Given the description of an element on the screen output the (x, y) to click on. 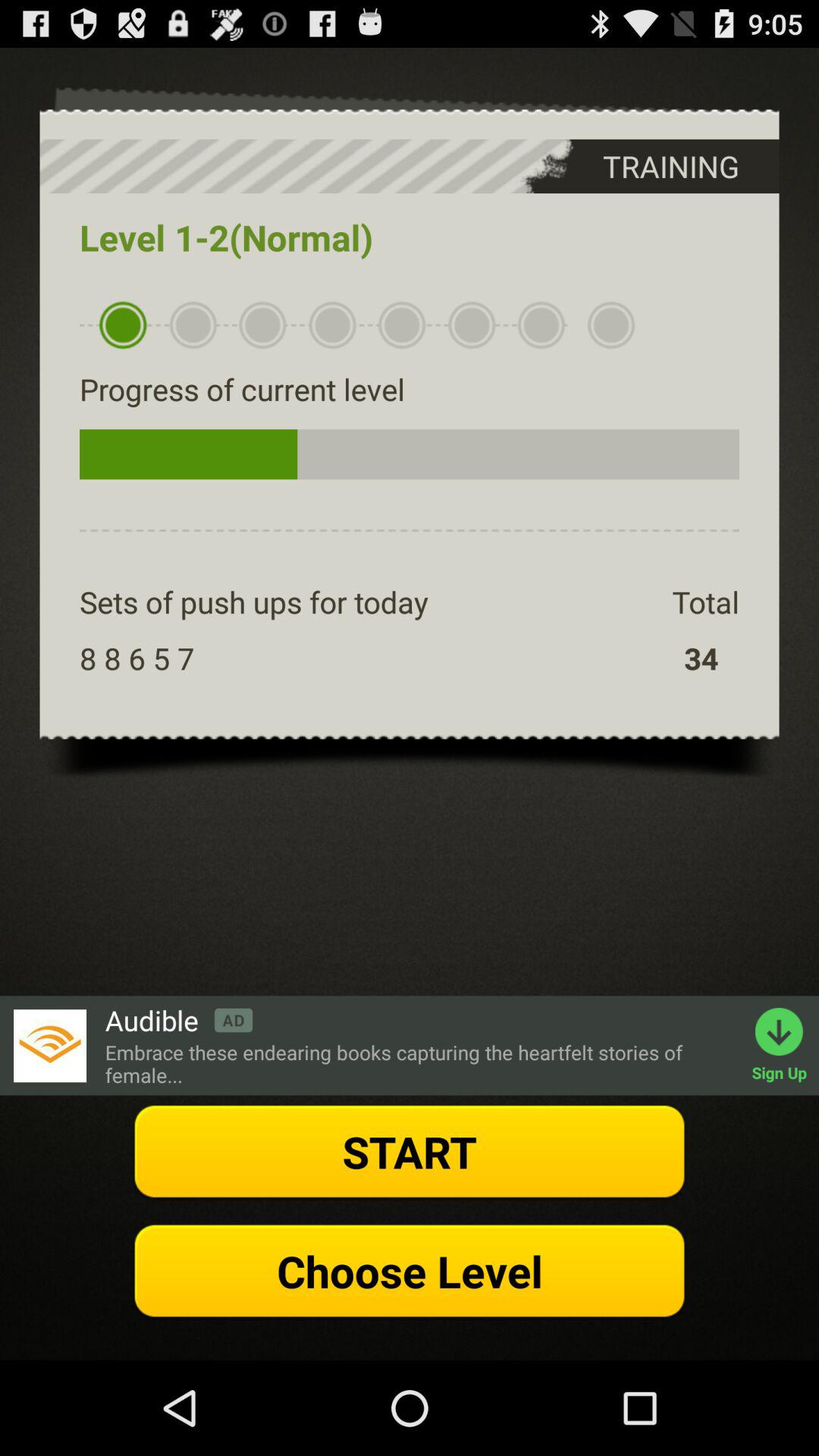
click on training (639, 166)
select the option choose level (409, 1270)
click on the fifth circle (401, 325)
third circle below normal (262, 325)
select the text sign up which is in green color (785, 1045)
select the seventh bullet below level 12 normal (541, 325)
